Given the description of an element on the screen output the (x, y) to click on. 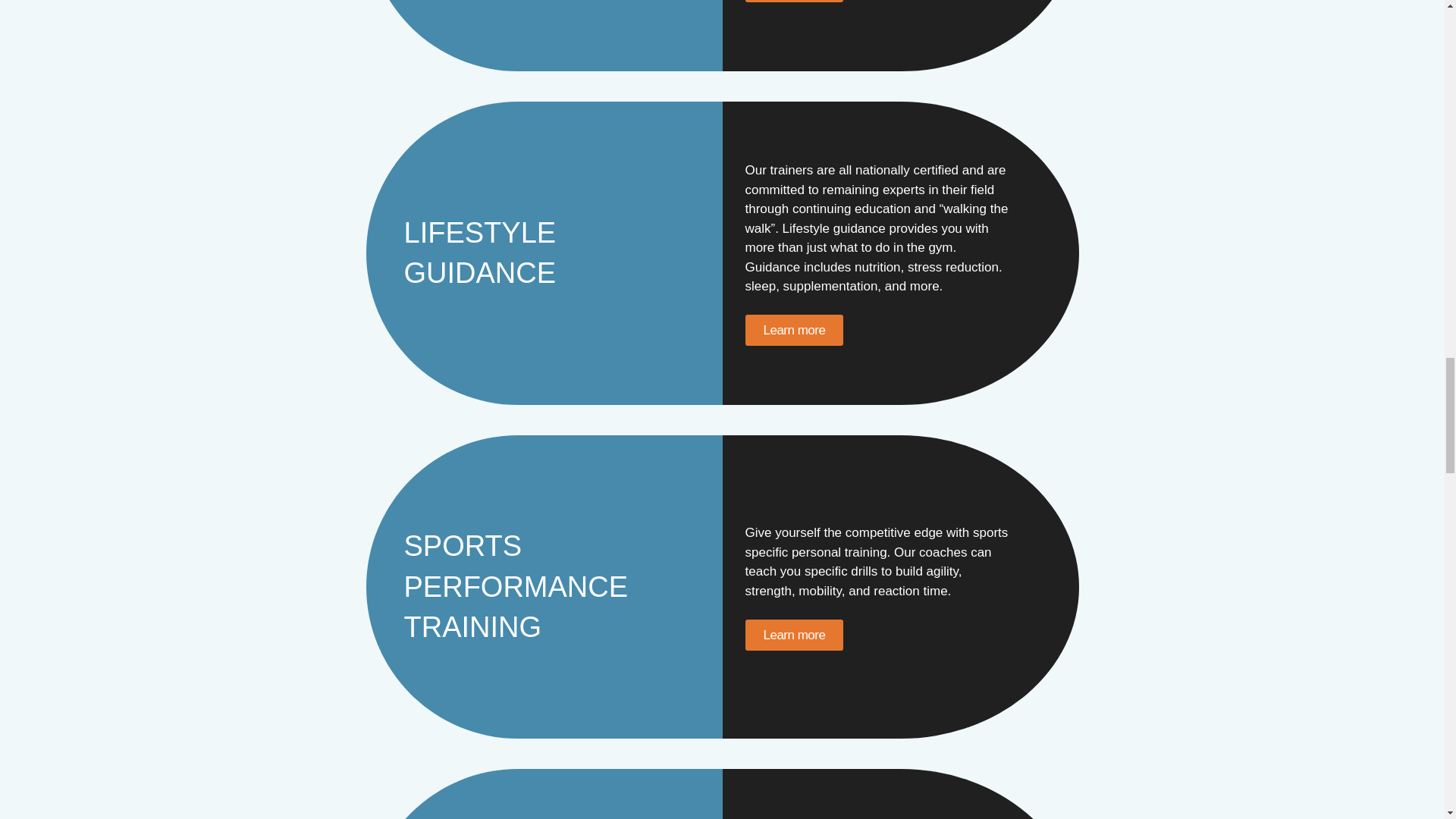
Learn more (793, 1)
Learn more (793, 329)
Learn more (793, 634)
